Given the description of an element on the screen output the (x, y) to click on. 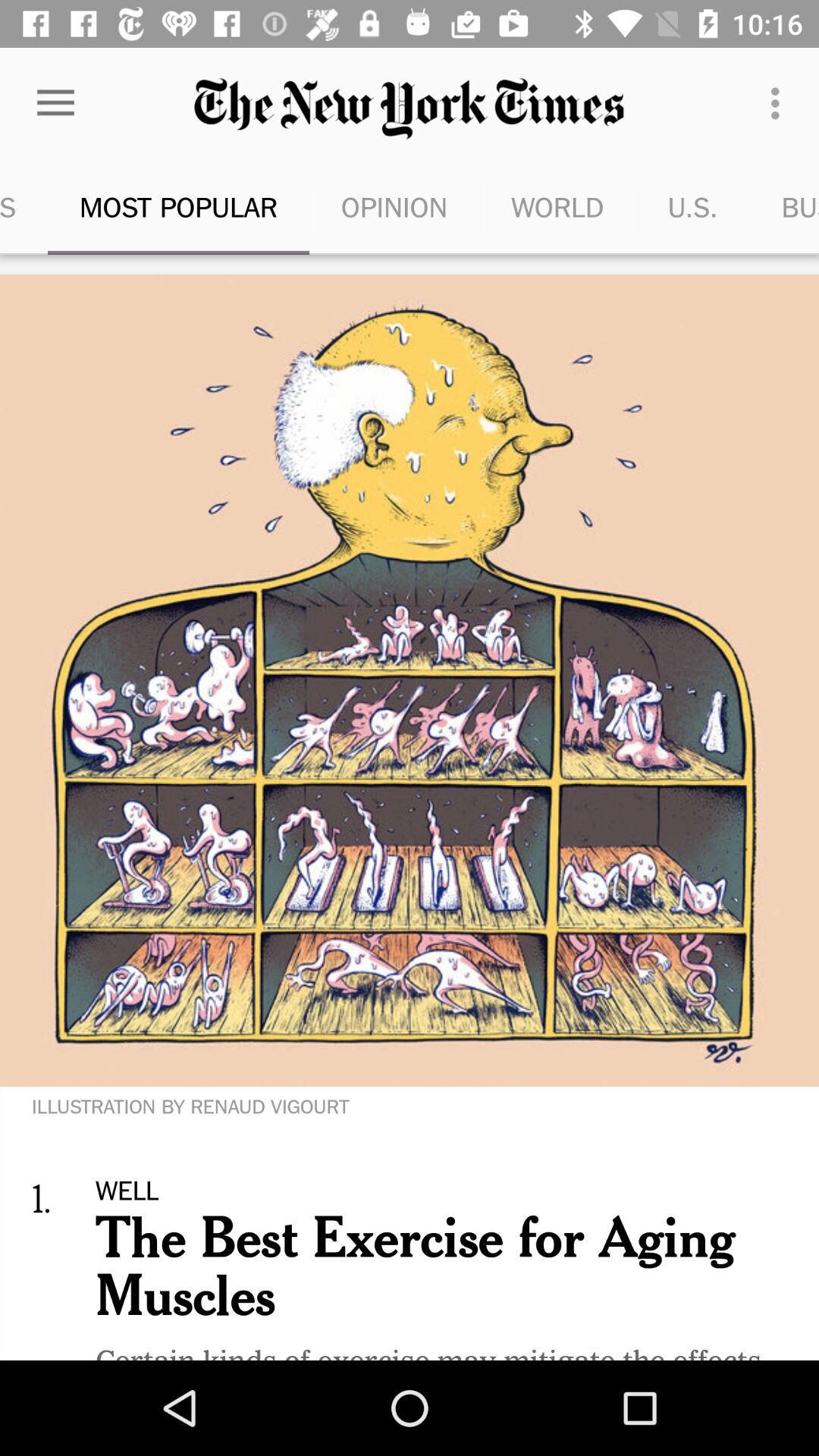
tap item above u.s. (779, 103)
